Given the description of an element on the screen output the (x, y) to click on. 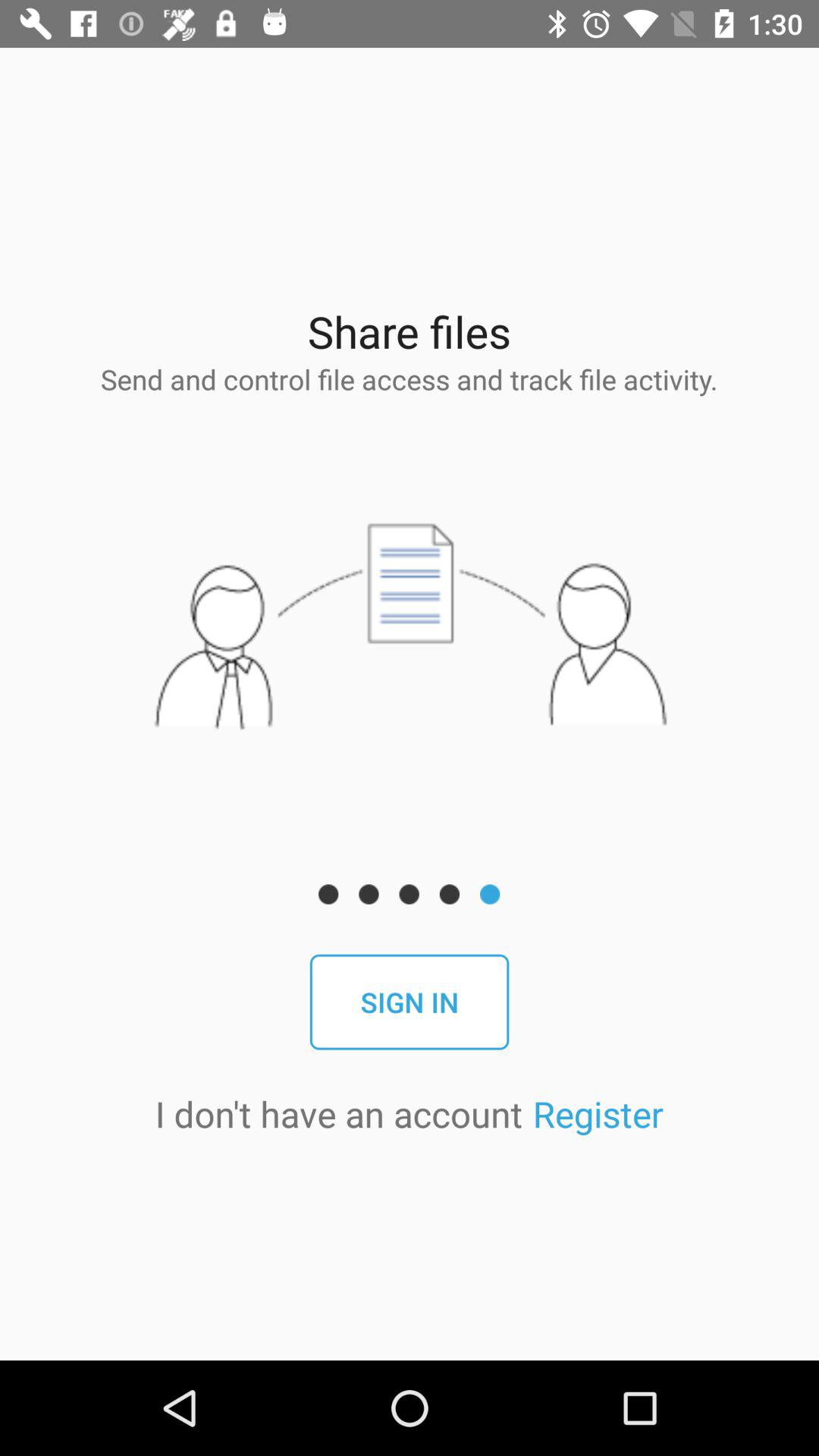
open the register app (597, 1113)
